Given the description of an element on the screen output the (x, y) to click on. 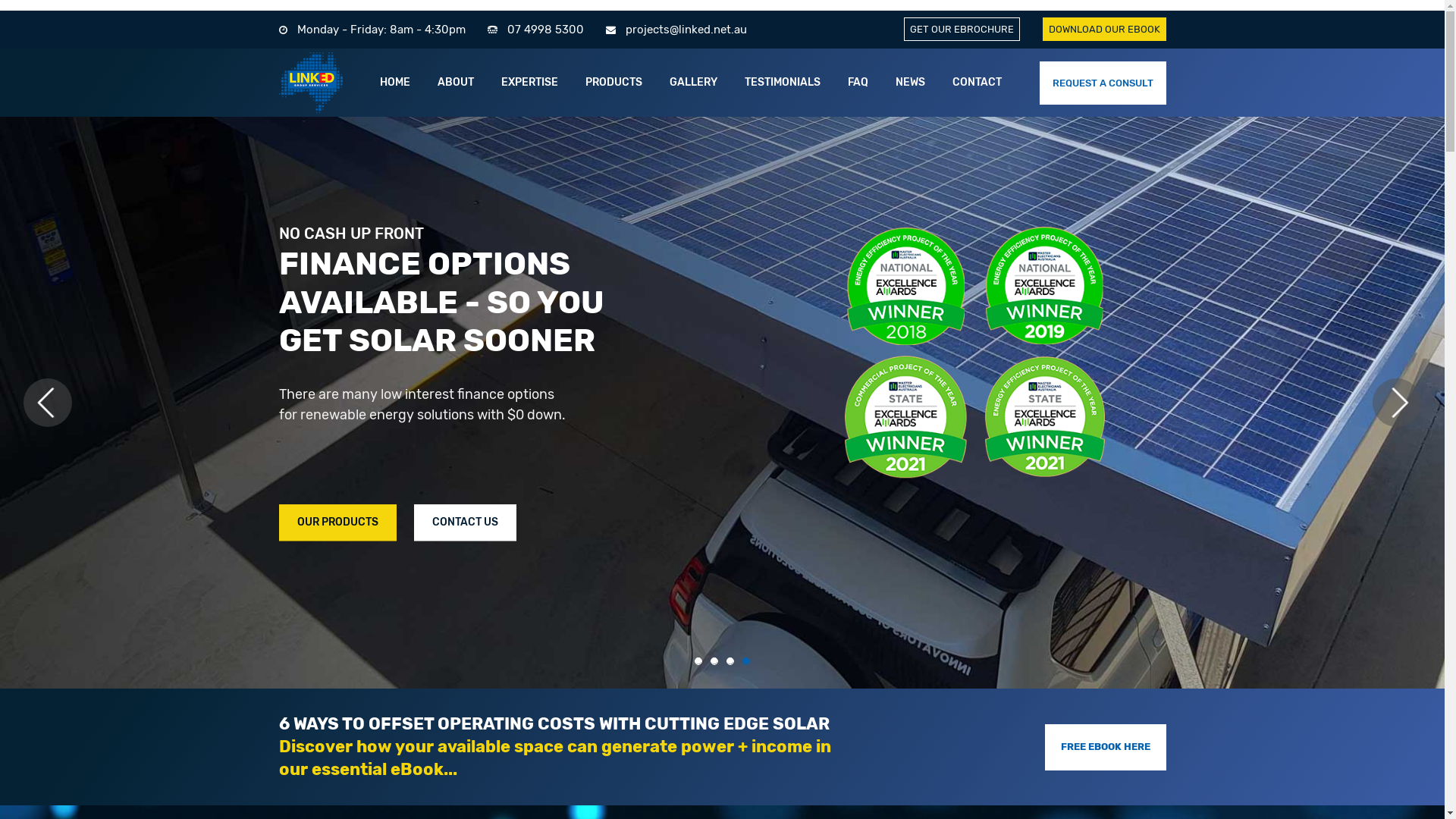
TESTIMONIALS Element type: text (782, 82)
HOME Element type: text (394, 82)
1 Element type: text (698, 661)
FREE EBOOK HERE Element type: text (1105, 747)
4 Element type: text (745, 661)
  Element type: hover (310, 82)
ABOUT Element type: text (455, 82)
DOWNLOAD OUR EBOOK Element type: text (1103, 28)
GET OUR EBROCHURE Element type: text (961, 28)
EXPERTISE Element type: text (529, 82)
CONTACT Element type: text (976, 82)
07 4998 5300 Element type: text (544, 29)
NEWS Element type: text (910, 82)
projects@linked.net.au Element type: text (685, 29)
3 Element type: text (730, 661)
FAQ Element type: text (857, 82)
REQUEST A CONSULT Element type: text (1101, 81)
2 Element type: text (713, 661)
CONTACT US Element type: text (995, 522)
OUR PRODUCTS Element type: text (907, 522)
PRODUCTS Element type: text (613, 82)
GALLERY Element type: text (693, 82)
